Given the description of an element on the screen output the (x, y) to click on. 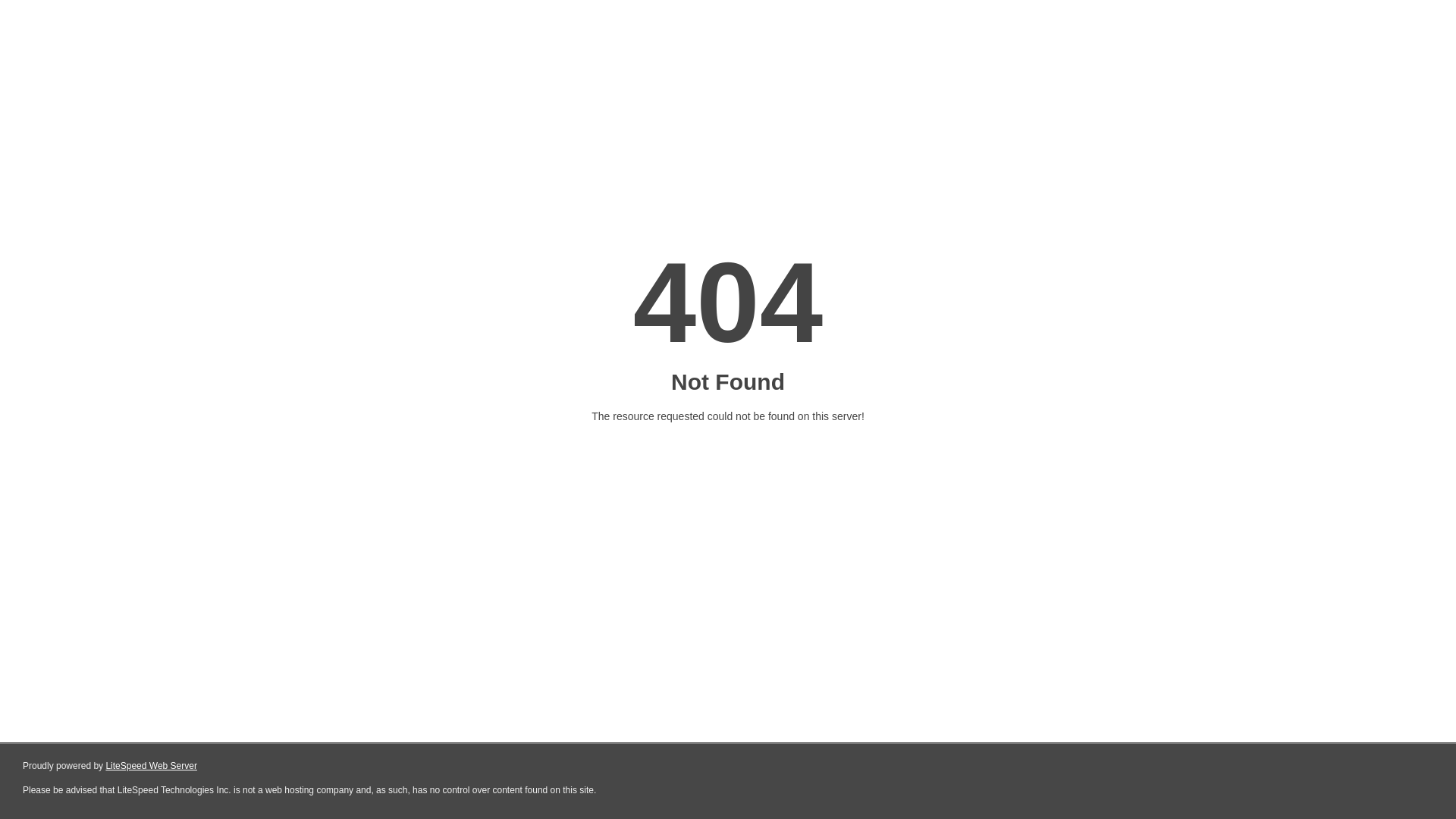
LiteSpeed Web Server Element type: text (151, 765)
